Given the description of an element on the screen output the (x, y) to click on. 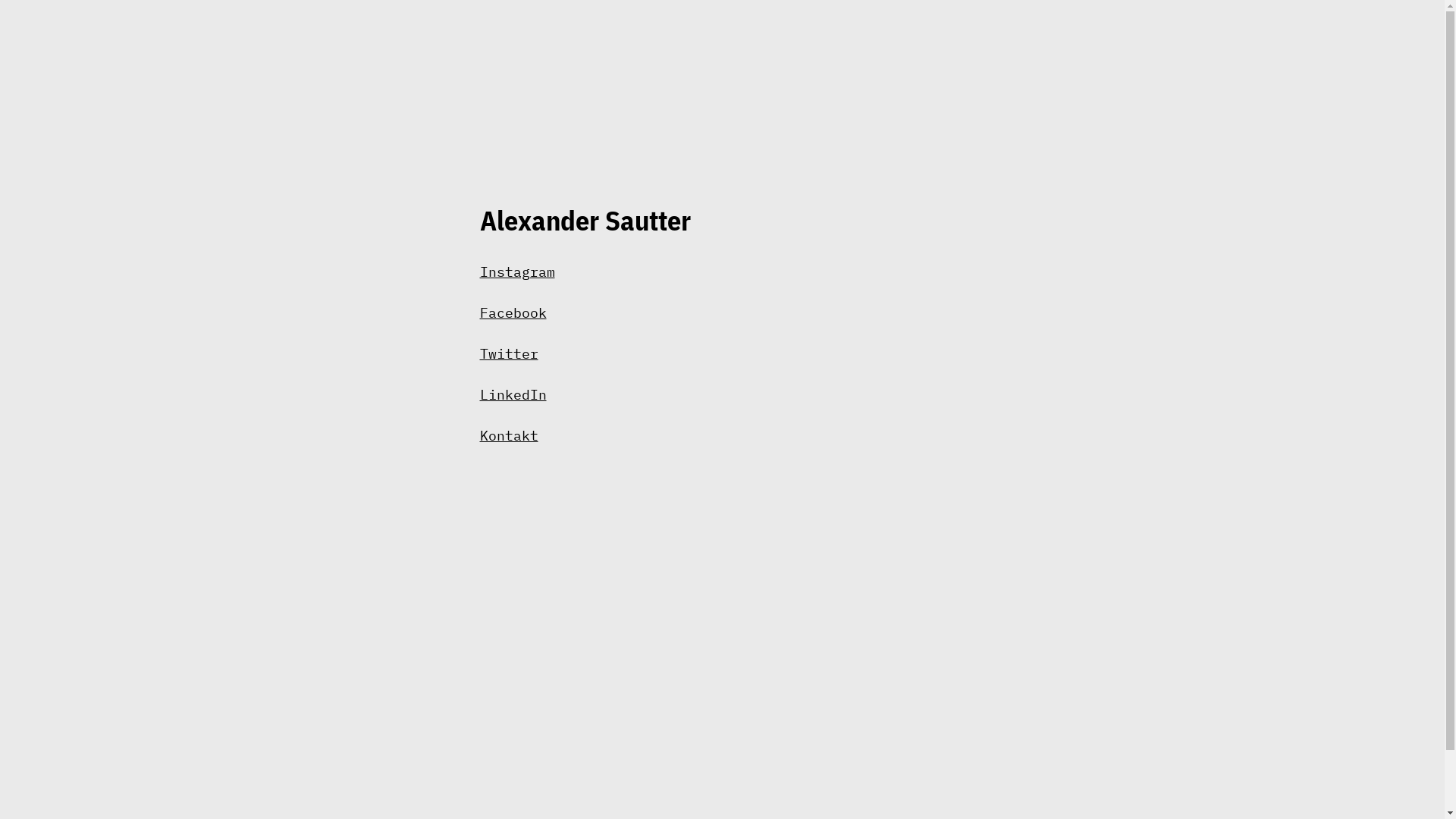
Twitter Element type: text (508, 353)
LinkedIn Element type: text (512, 394)
Facebook Element type: text (512, 312)
Kontakt Element type: text (508, 435)
Instagram Element type: text (516, 271)
